Given the description of an element on the screen output the (x, y) to click on. 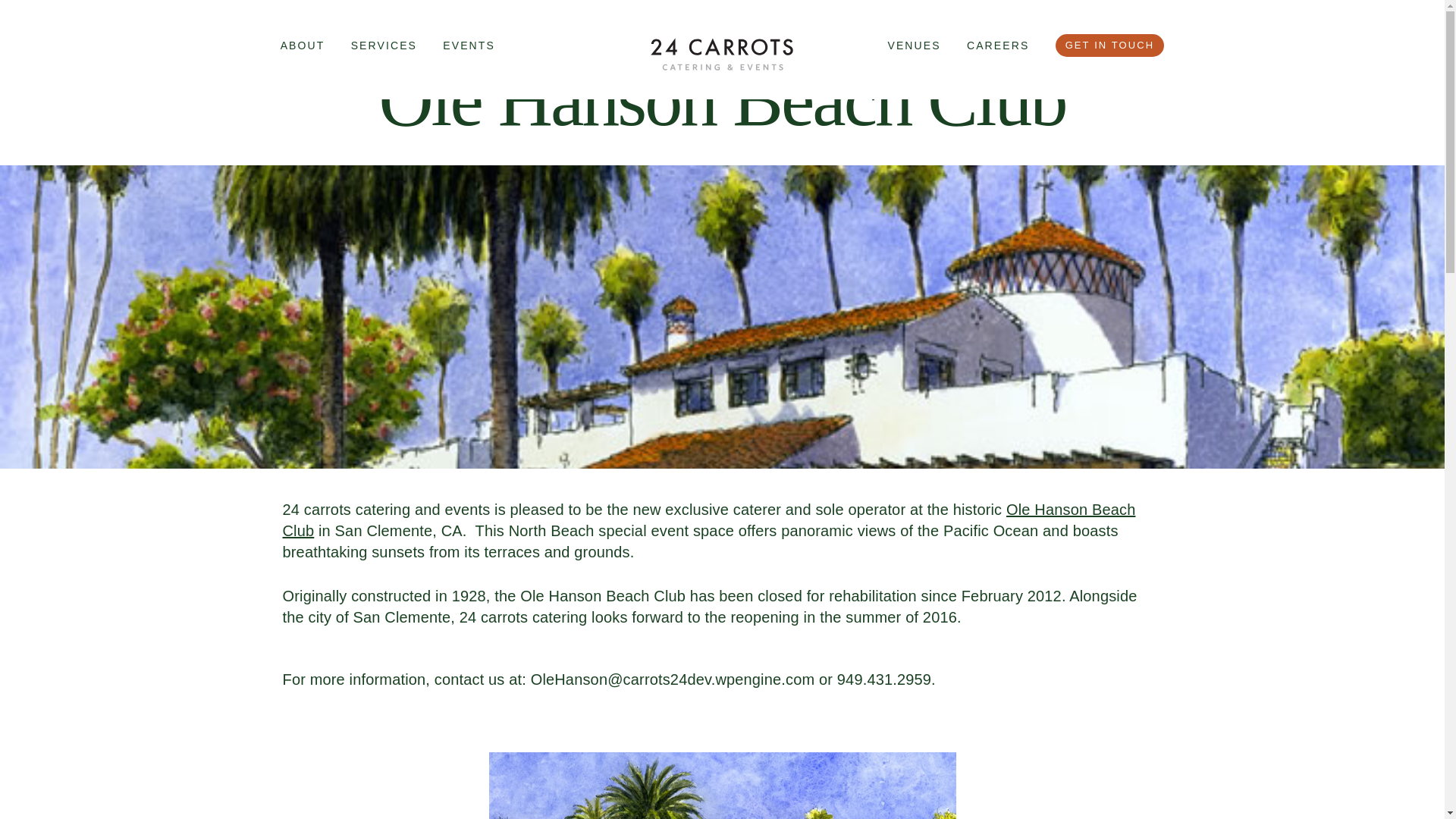
VENUES (913, 45)
ABOUT (302, 45)
CAREERS (997, 45)
EVENTS (468, 45)
GET IN TOUCH (1109, 45)
HOME (722, 53)
SERVICES (383, 45)
